Given the description of an element on the screen output the (x, y) to click on. 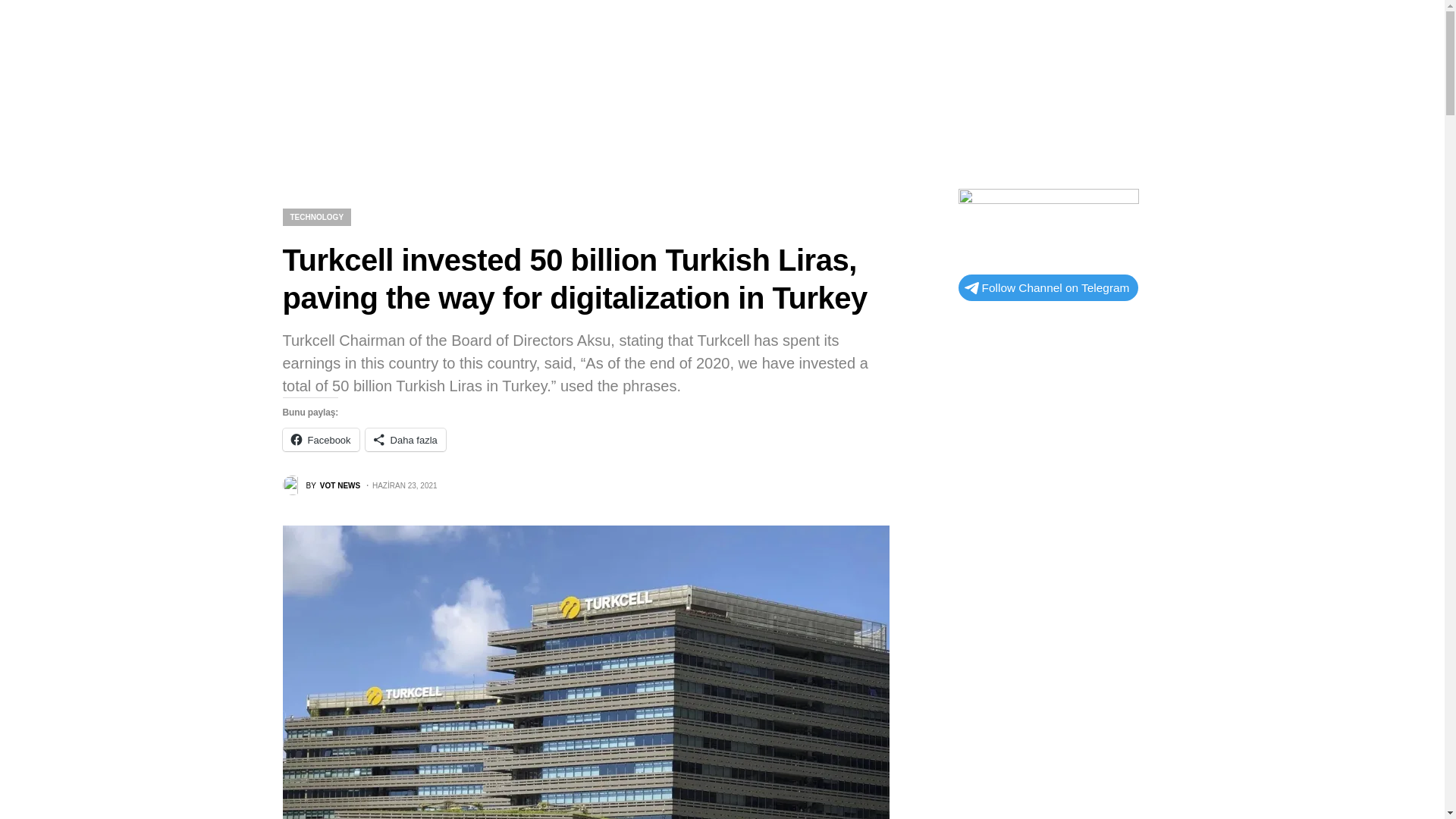
Defense Industry (586, 114)
View all posts by Vot News (320, 485)
Facebook (320, 439)
TECHNOLOGY (320, 485)
Daha fazla (316, 217)
